Given the description of an element on the screen output the (x, y) to click on. 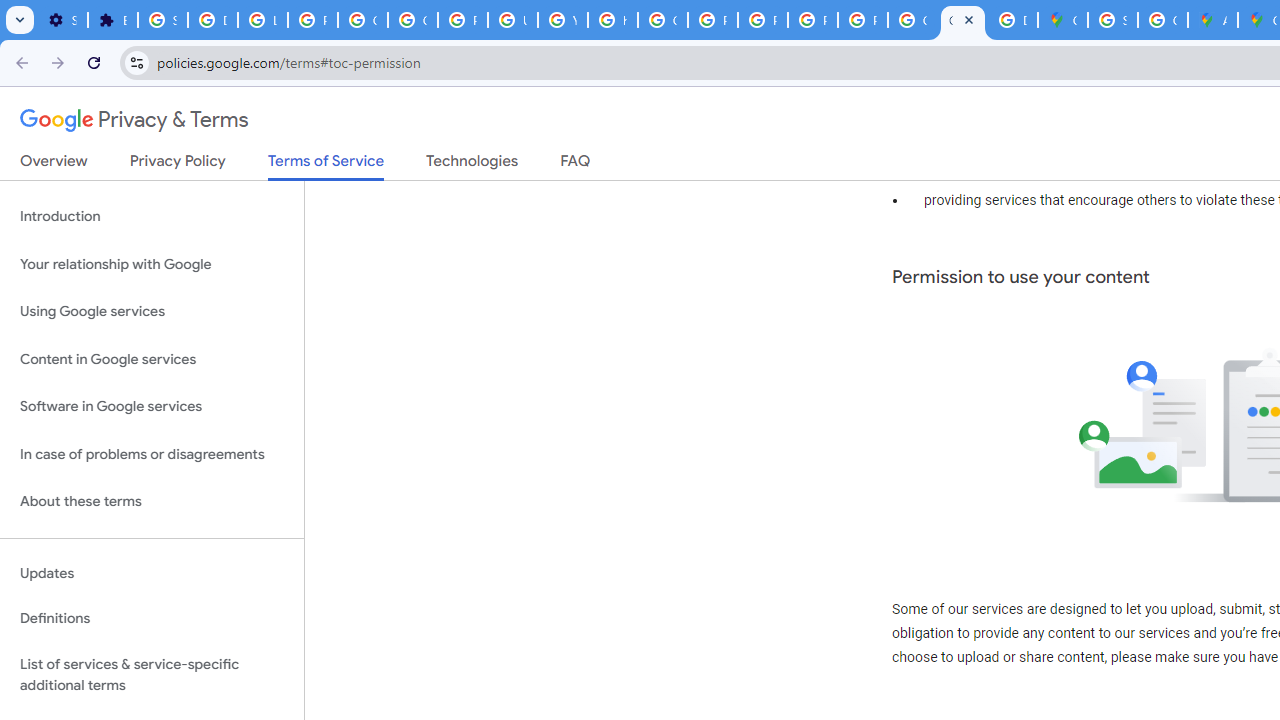
Google Account Help (362, 20)
Introduction (152, 216)
Extensions (113, 20)
